Given the description of an element on the screen output the (x, y) to click on. 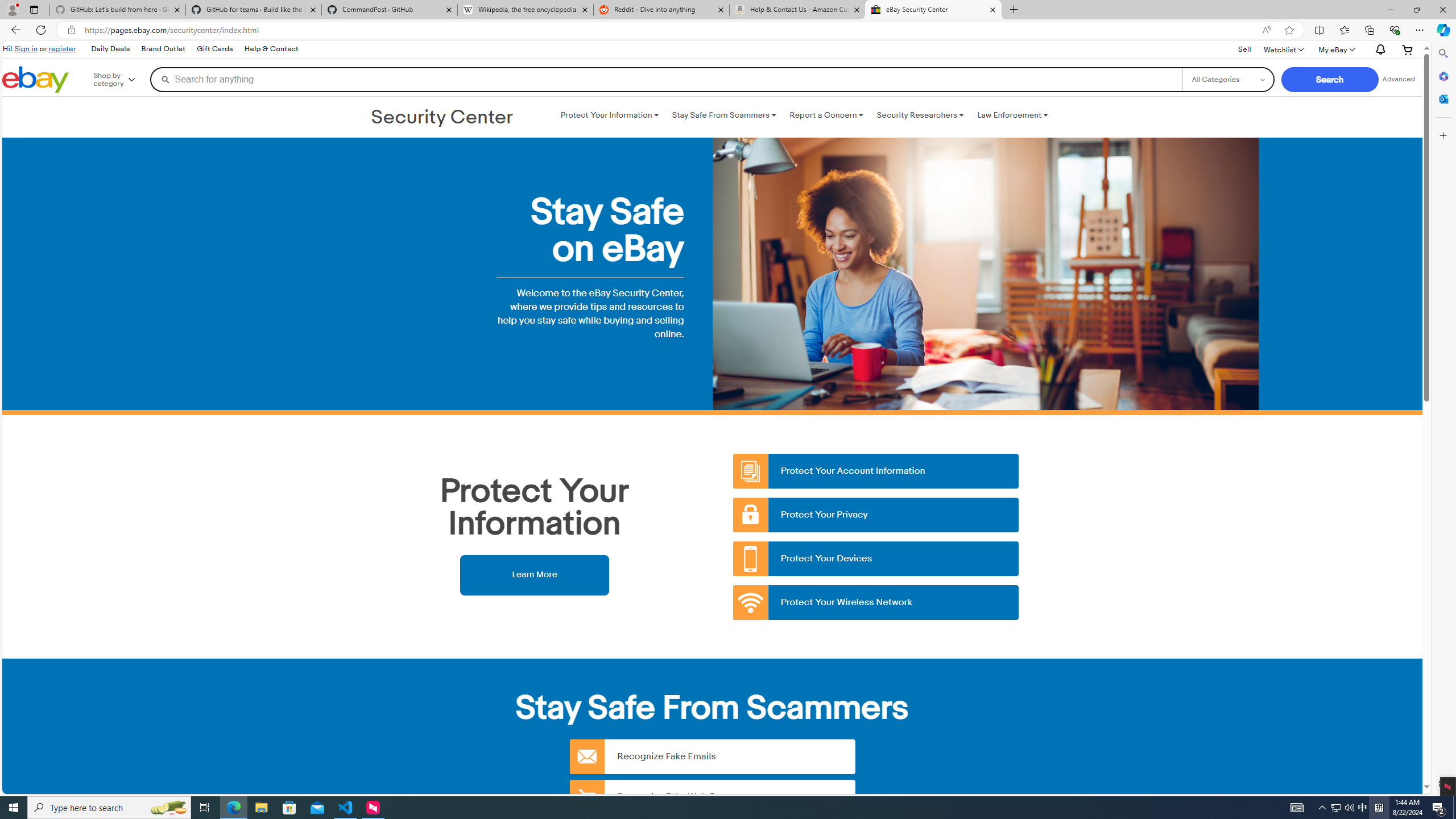
Daily Deals (109, 49)
Sell (1244, 49)
Stay Safe From Scammers  (723, 115)
Report a Concern  (826, 115)
Wikipedia, the free encyclopedia (525, 9)
Protect Your Devices (876, 558)
Recognize Fake Web Pages (712, 796)
Your shopping cart (1407, 49)
My eBay (1335, 49)
